Given the description of an element on the screen output the (x, y) to click on. 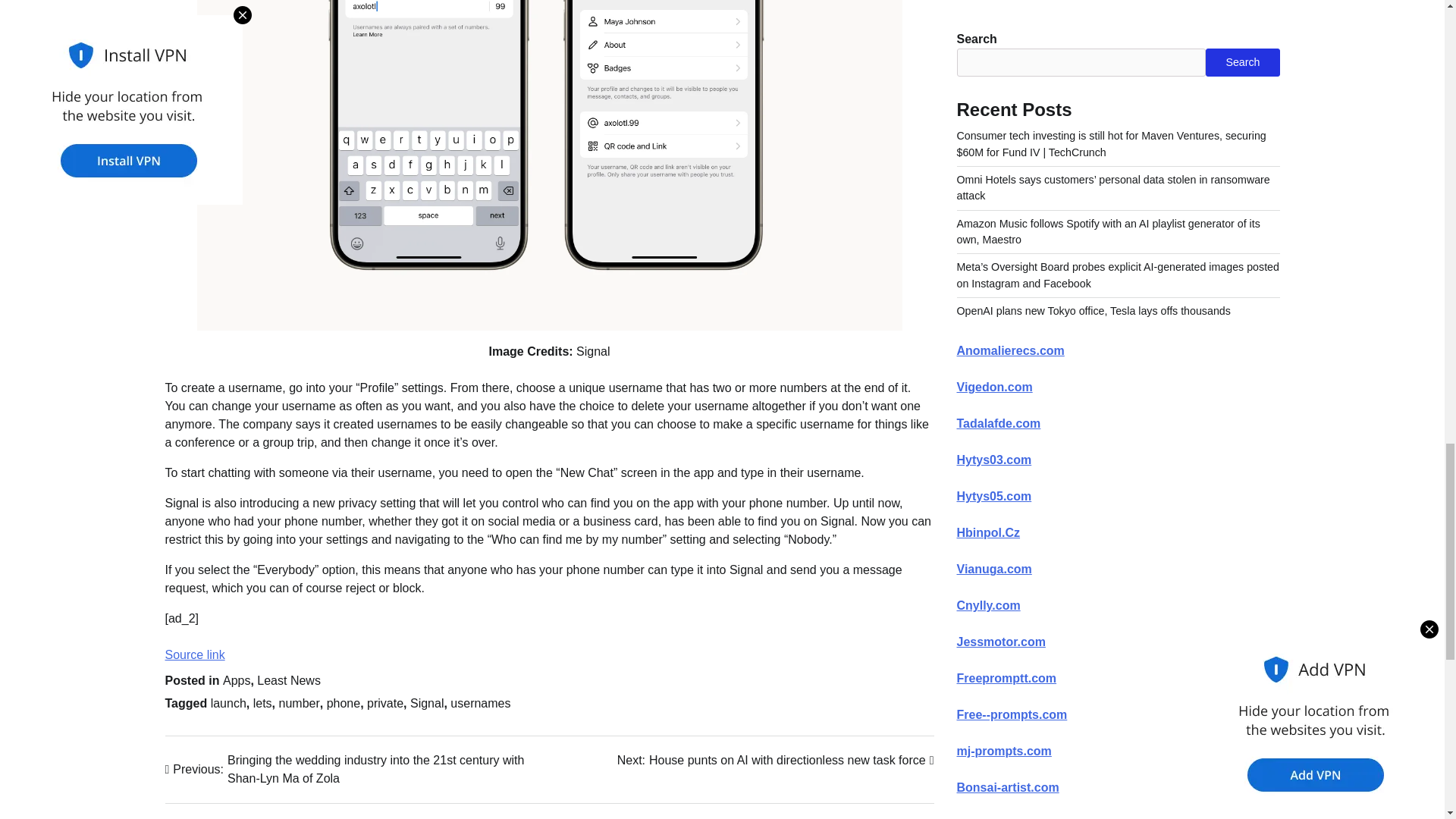
private (384, 703)
Least News (288, 680)
phone (343, 703)
number (299, 703)
Source link (195, 654)
launch (228, 703)
Signal (427, 703)
usernames (480, 703)
lets (775, 760)
Apps (262, 703)
